Given the description of an element on the screen output the (x, y) to click on. 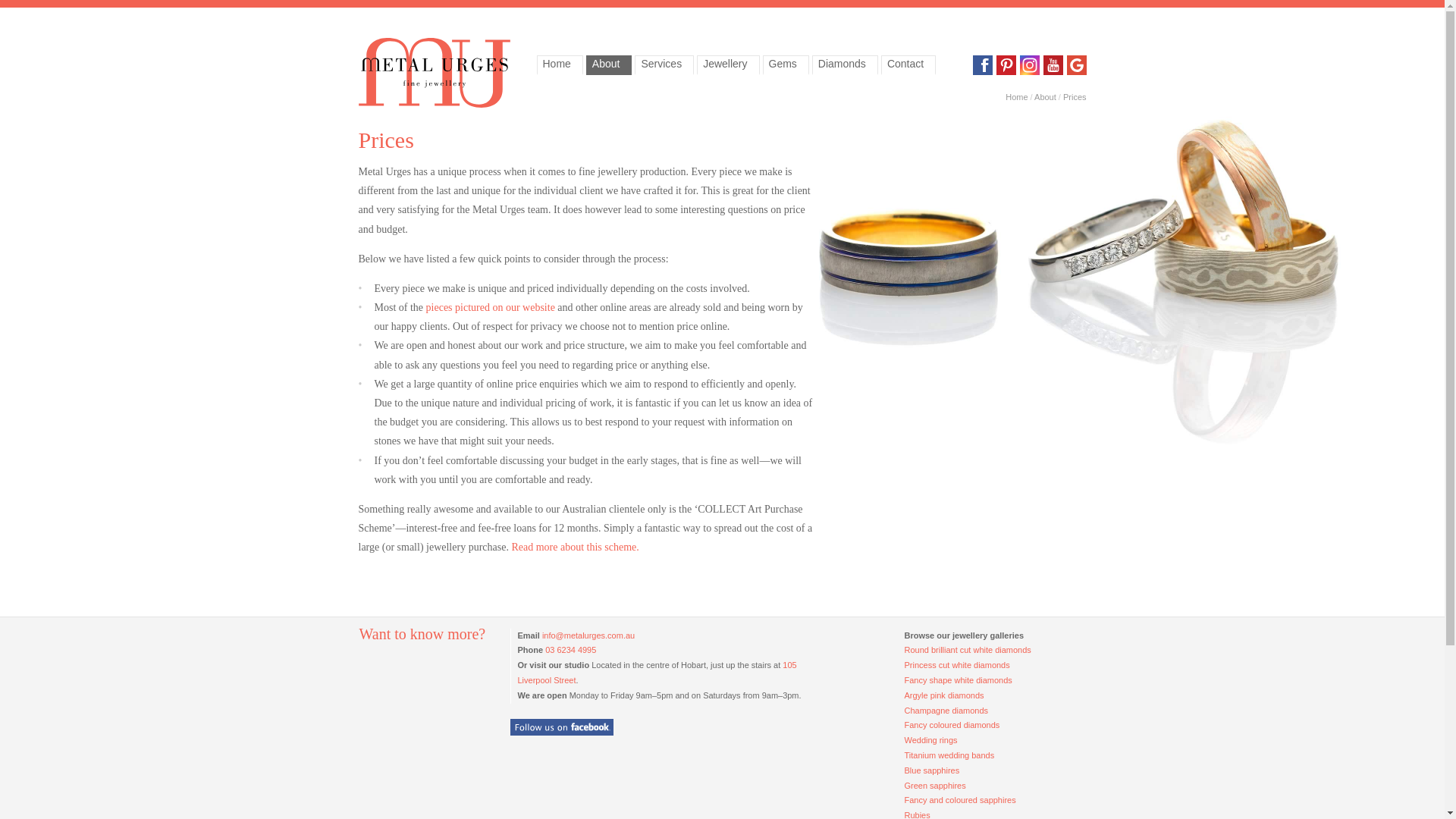
Gems Element type: text (785, 65)
Fancy coloured diamonds Element type: text (951, 724)
Jewellery Element type: text (727, 65)
Green sapphires Element type: text (934, 785)
Princess cut white diamonds Element type: text (956, 664)
Diamonds Element type: text (845, 65)
Contact Element type: text (908, 65)
Champagne diamonds Element type: text (945, 710)
Titanium wedding bands Element type: text (948, 754)
Round brilliant cut white diamonds Element type: text (966, 649)
Home Element type: text (559, 65)
Fancy shape white diamonds Element type: text (957, 679)
Blue sapphires Element type: text (931, 770)
About Element type: text (1045, 96)
pieces pictured on our website Element type: text (490, 307)
Services Element type: text (663, 65)
info@metalurges.com.au Element type: text (588, 635)
03 6234 4995 Element type: text (570, 649)
105 Liverpool Street Element type: text (656, 672)
Argyle pink diamonds Element type: text (943, 694)
Wedding rings Element type: text (930, 739)
Home Element type: text (1016, 96)
Fancy and coloured sapphires Element type: text (959, 799)
About Element type: text (609, 65)
Read more about this scheme. Element type: text (574, 546)
